Given the description of an element on the screen output the (x, y) to click on. 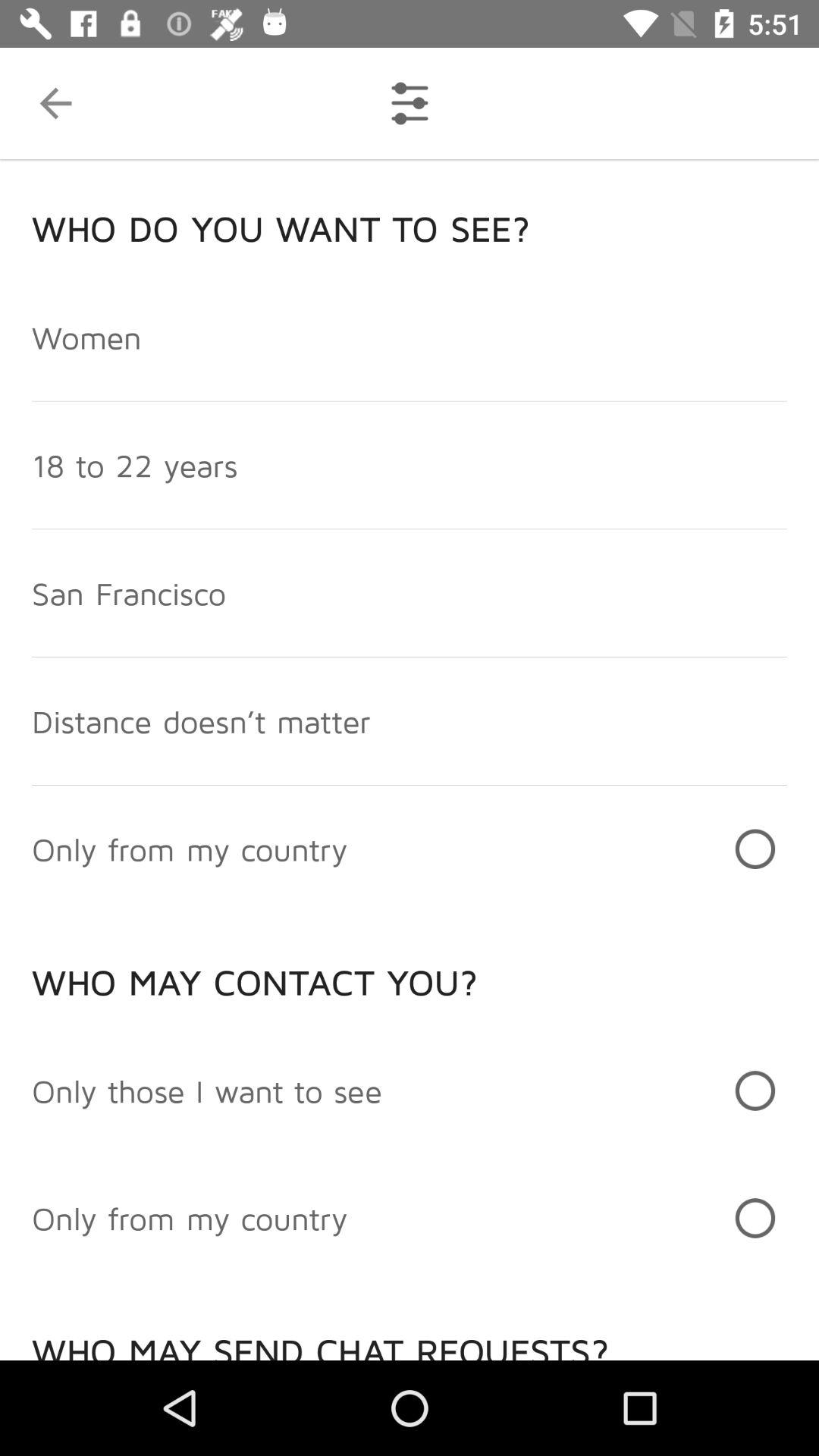
jump to the san francisco icon (128, 592)
